Given the description of an element on the screen output the (x, y) to click on. 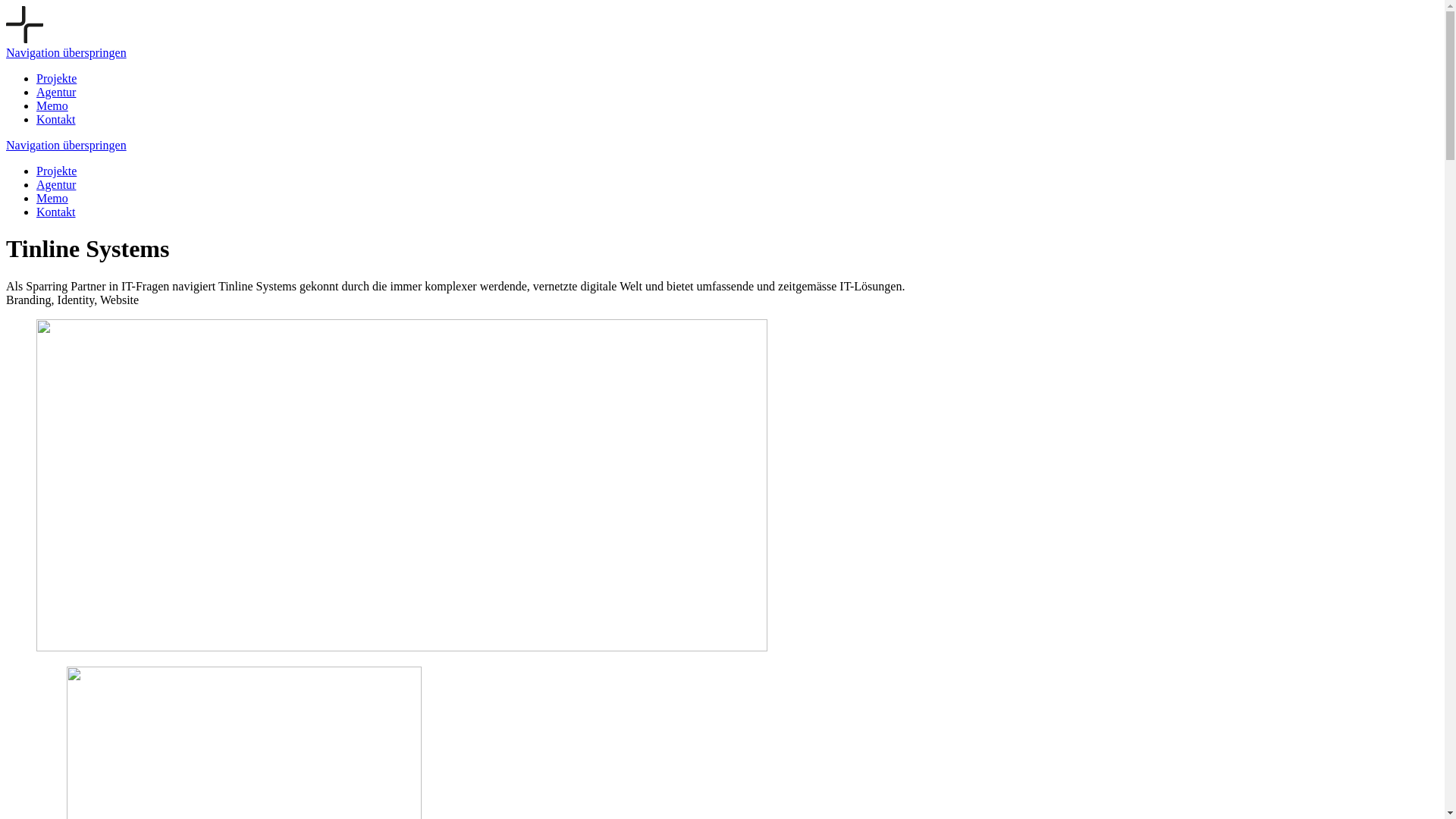
Agentur Element type: text (55, 184)
Projekte Element type: text (56, 78)
Agentur Element type: text (55, 91)
Kontakt Element type: text (55, 211)
Projekte Element type: text (56, 170)
Memo Element type: text (52, 105)
Memo Element type: text (52, 197)
Kontakt Element type: text (55, 118)
